Given the description of an element on the screen output the (x, y) to click on. 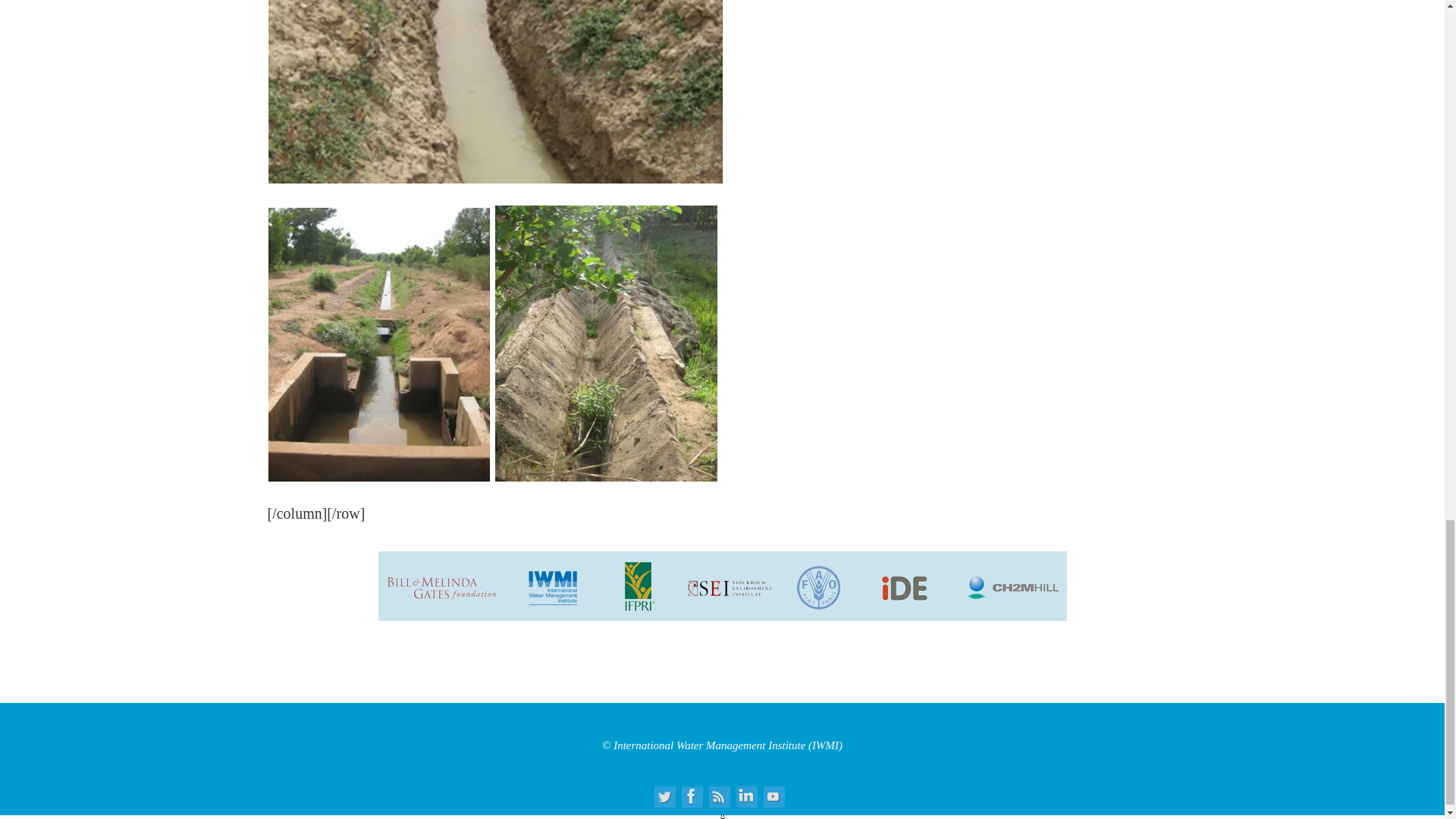
Watch us on YouTube (772, 795)
Get our latest news (717, 795)
Join us on Facebook (690, 795)
Follow us on Twitter (662, 795)
Join us on LinkedIn (745, 795)
